Given the description of an element on the screen output the (x, y) to click on. 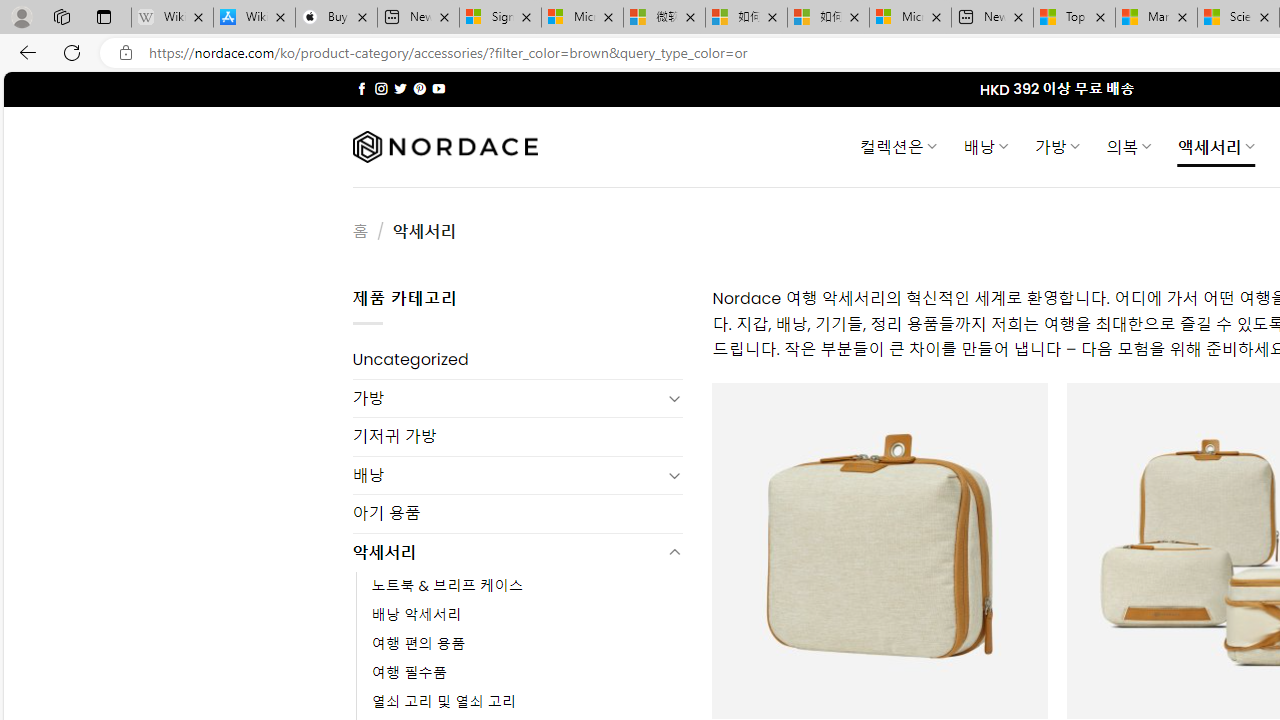
Follow on Facebook (361, 88)
